Given the description of an element on the screen output the (x, y) to click on. 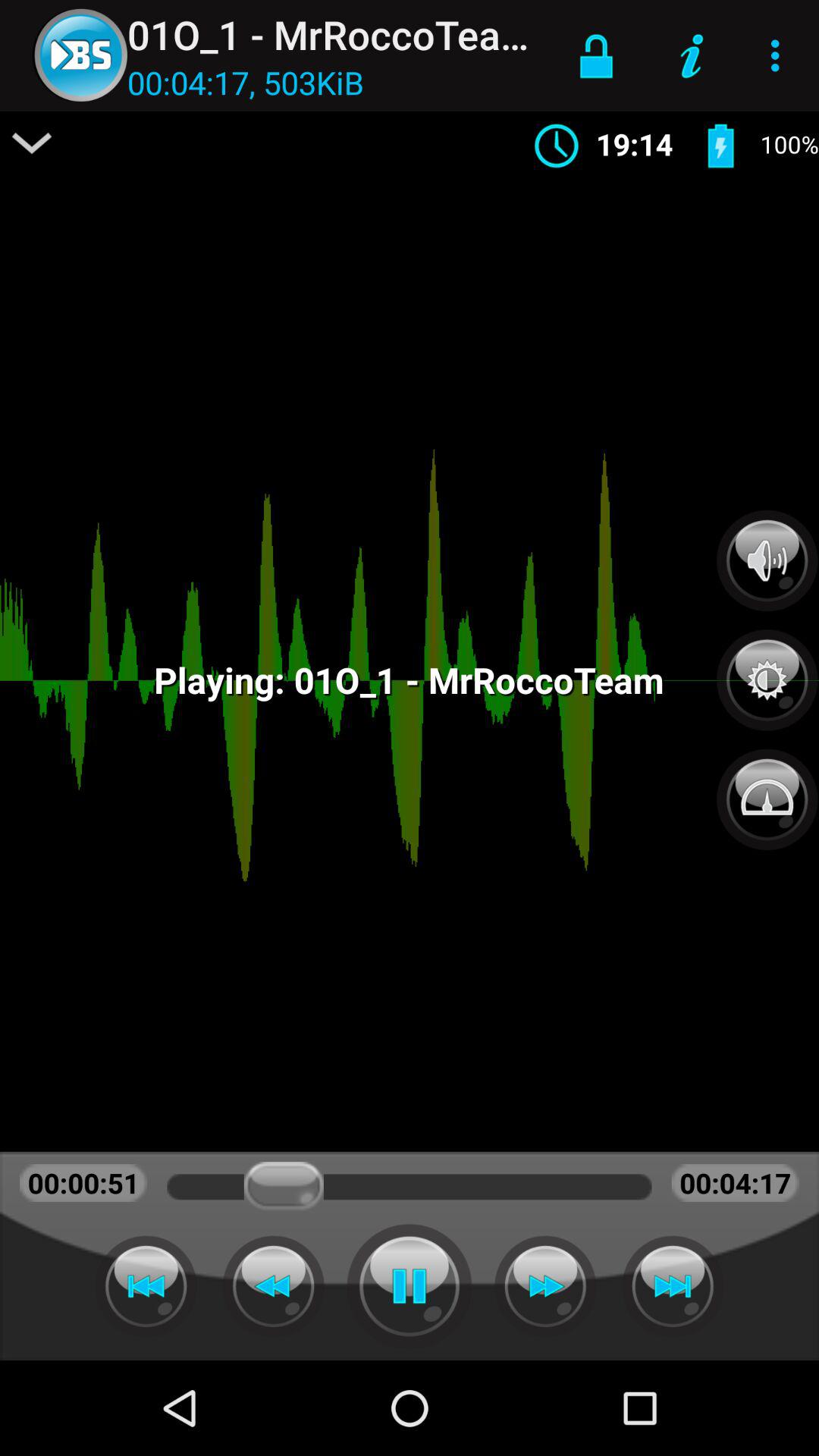
open item above 00:00:52 item (31, 143)
